Given the description of an element on the screen output the (x, y) to click on. 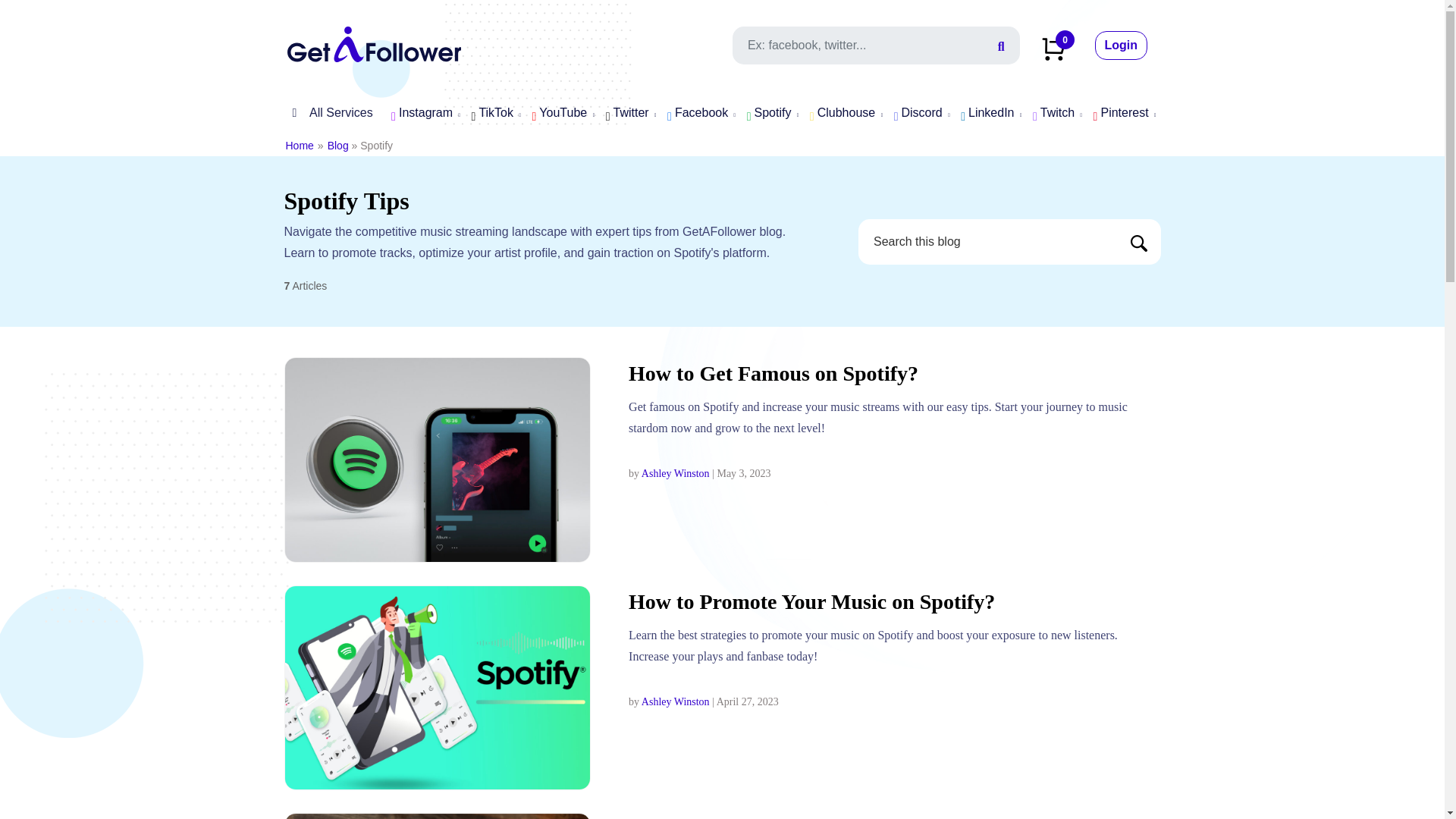
Go (1139, 242)
All Services (327, 112)
0 (1053, 47)
GetAFollower (373, 42)
Instagram (422, 114)
Login (1121, 45)
Go (1139, 242)
